Given the description of an element on the screen output the (x, y) to click on. 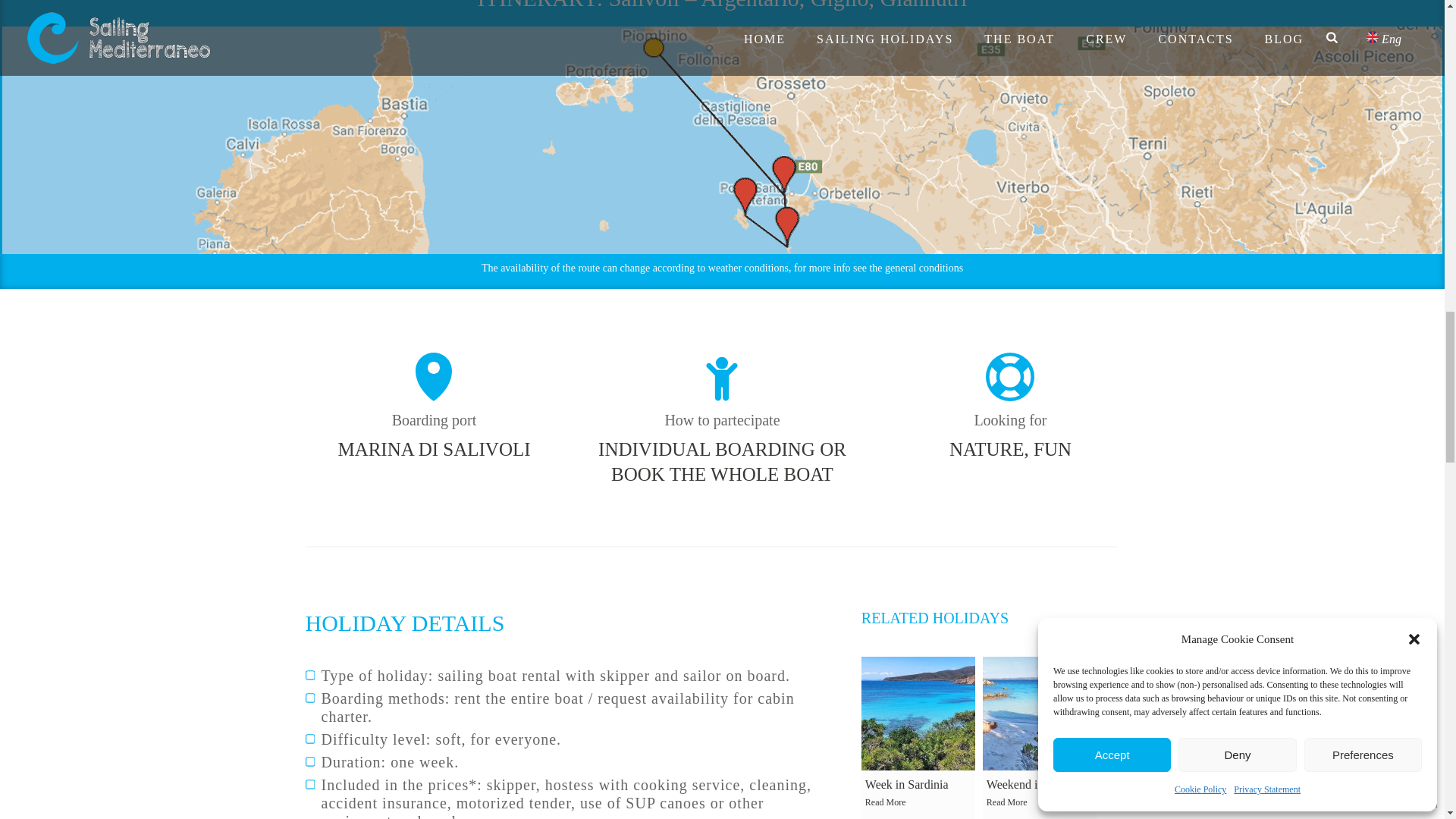
Week in Sardinia (918, 713)
Weekend in Sardinia (1039, 713)
